Given the description of an element on the screen output the (x, y) to click on. 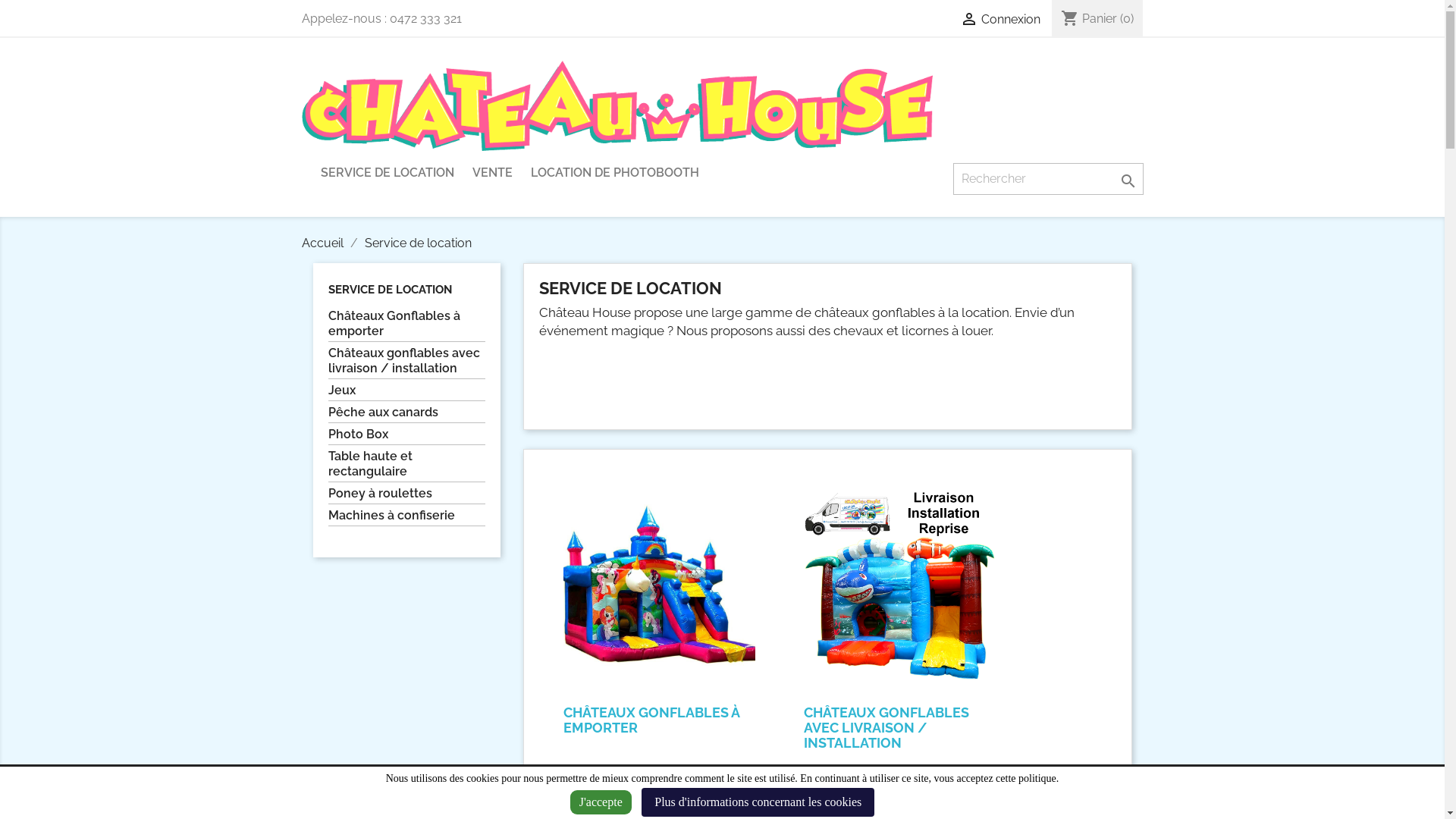
Plus d'informations concernant les cookies Element type: text (757, 801)
SERVICE DE LOCATION Element type: text (389, 289)
Jeux Element type: text (406, 391)
Photo Box Element type: text (406, 435)
J'accepte Element type: text (600, 802)
SERVICE DE LOCATION Element type: text (386, 174)
VENTE Element type: text (491, 174)
LOCATION DE PHOTOBOOTH Element type: text (614, 174)
Accueil Element type: text (323, 242)
Service de location Element type: text (417, 242)
Table haute et rectangulaire Element type: text (406, 465)
